Given the description of an element on the screen output the (x, y) to click on. 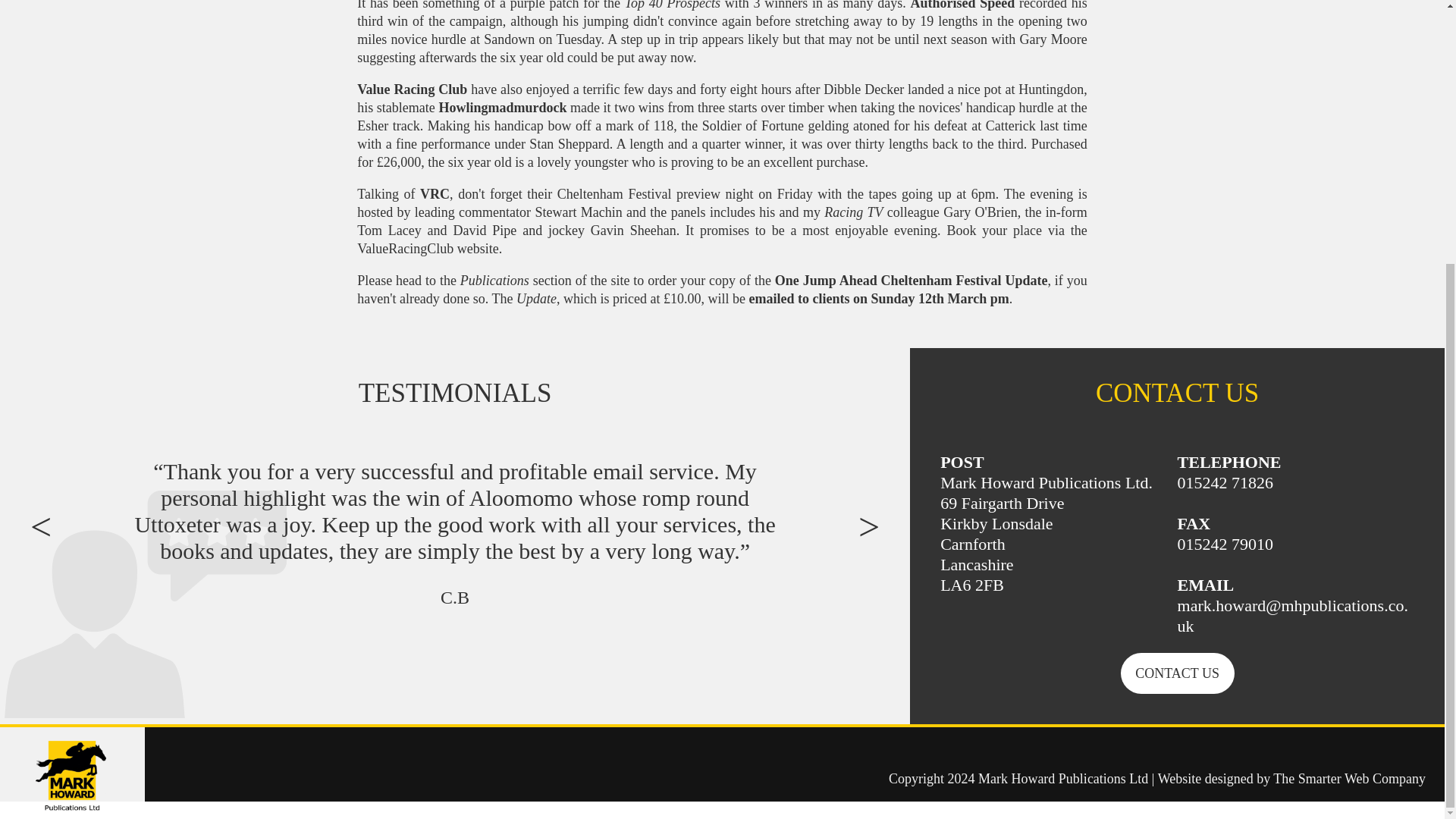
Previous (49, 538)
The Smarter Web Company (1348, 778)
CONTACT US (1177, 672)
Next (860, 538)
The Smarter Web Company - Web Design (1348, 778)
